Given the description of an element on the screen output the (x, y) to click on. 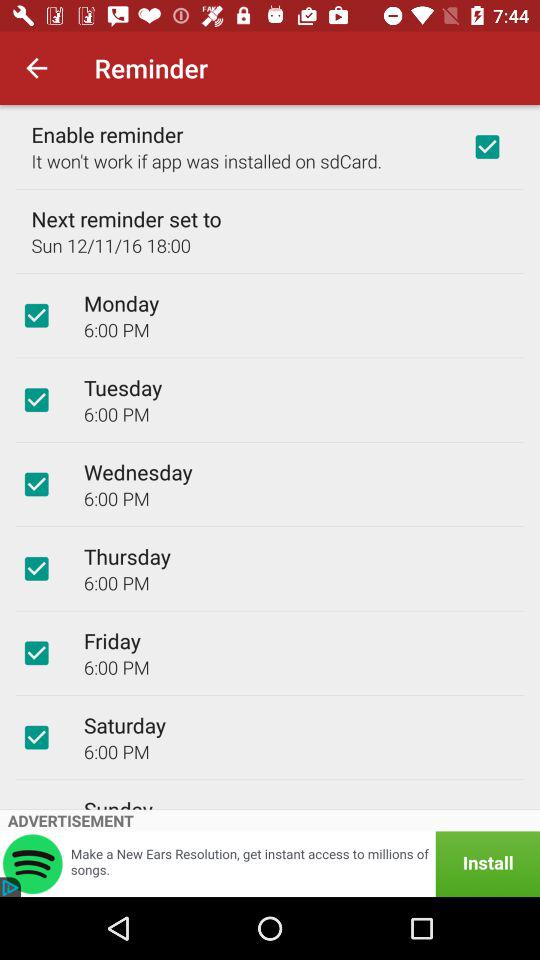
unselect it (36, 400)
